Given the description of an element on the screen output the (x, y) to click on. 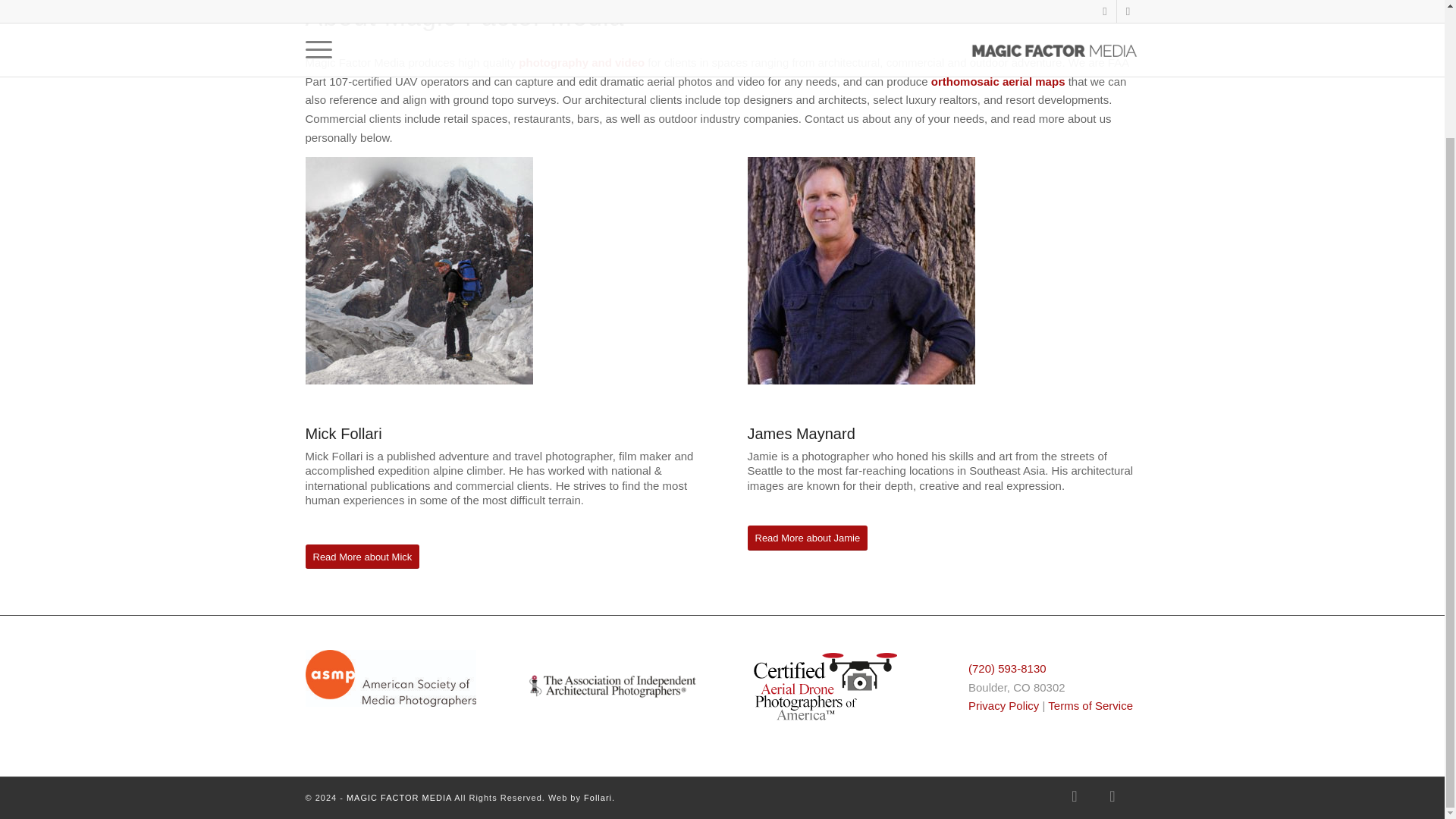
MAGIC FACTOR MEDIA (398, 797)
Read More about Mick (361, 556)
Terms of Service (1090, 705)
Instagram (1112, 795)
Read More about Jamie (807, 537)
Follari (597, 797)
Mick Follari Bio (418, 270)
Privacy Policy (1003, 705)
Facebook (1074, 795)
Jamie Bio (861, 270)
